Given the description of an element on the screen output the (x, y) to click on. 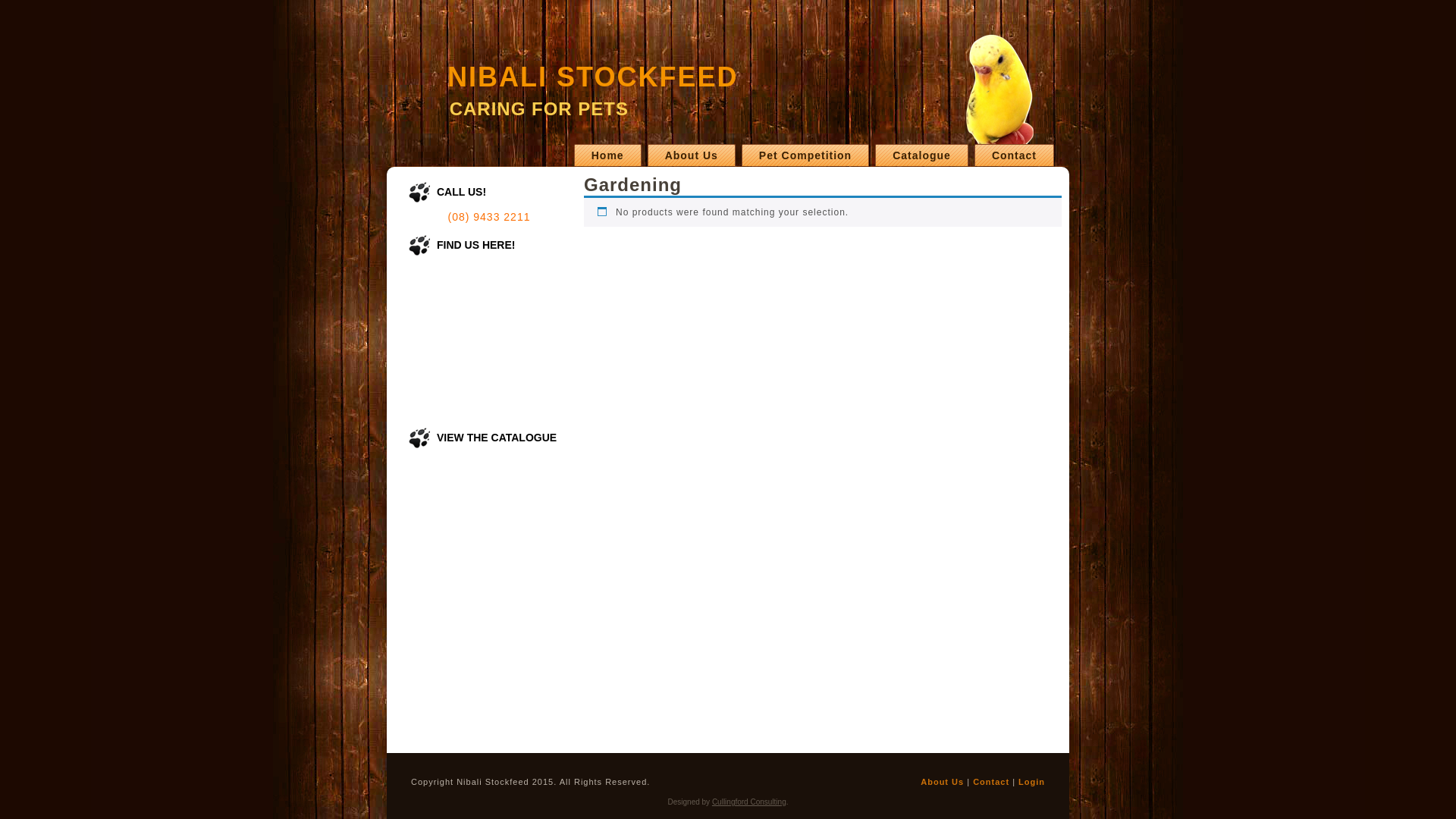
About Us Element type: text (941, 781)
NIBALI STOCKFEED Element type: text (592, 76)
Contact Element type: text (1014, 155)
About Us Element type: text (691, 155)
Cullingford Consulting Element type: text (749, 801)
Home Element type: text (607, 155)
(08) 9433 2211 Element type: text (489, 216)
Catalogue Element type: text (921, 155)
Pet Competition Element type: text (805, 155)
Contact Element type: text (990, 781)
Login Element type: text (1031, 781)
